Given the description of an element on the screen output the (x, y) to click on. 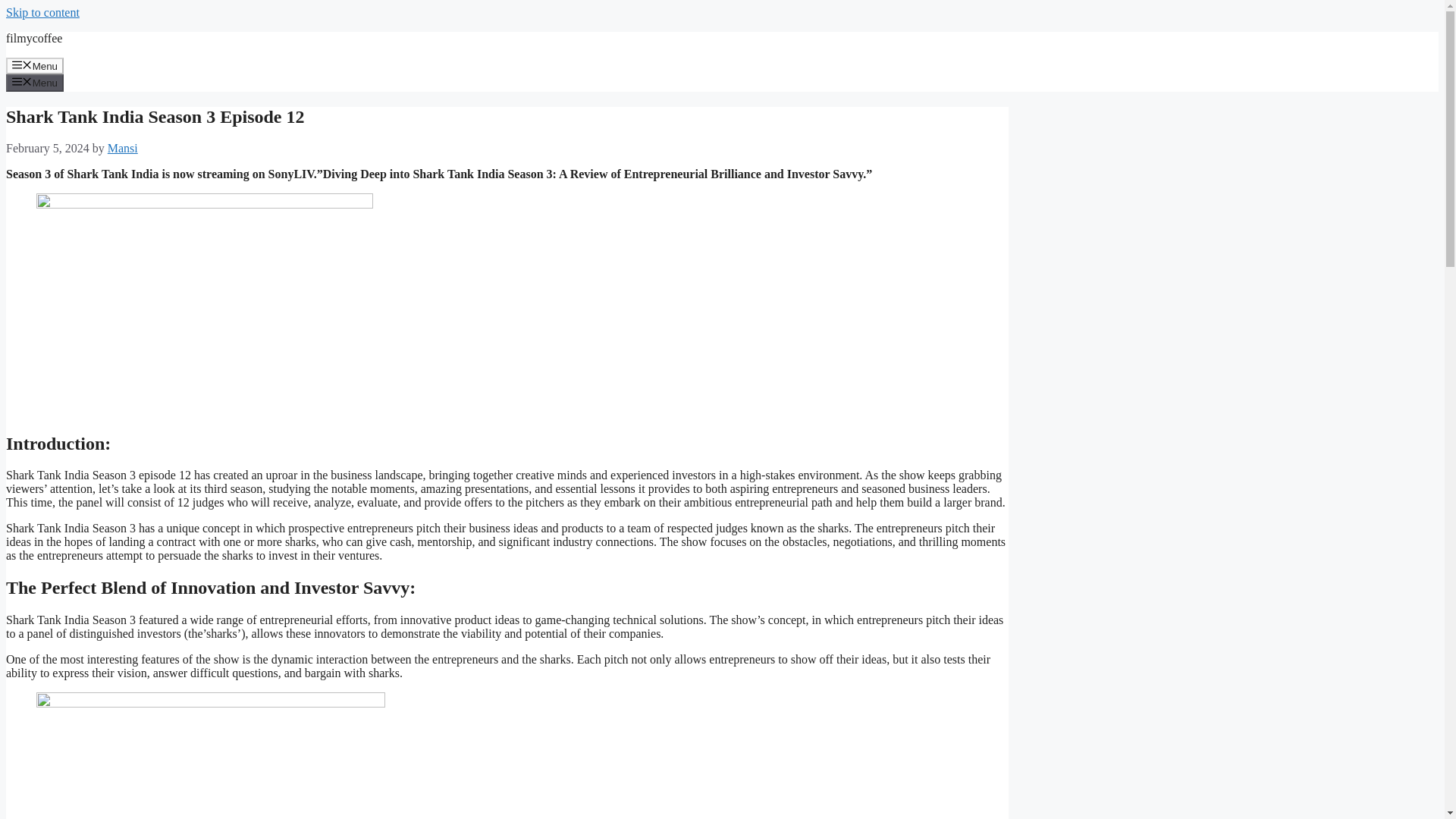
Mansi (122, 147)
Menu (34, 65)
View all posts by Mansi (122, 147)
Menu (34, 82)
Skip to content (42, 11)
Skip to content (42, 11)
filmycoffee (33, 38)
